Given the description of an element on the screen output the (x, y) to click on. 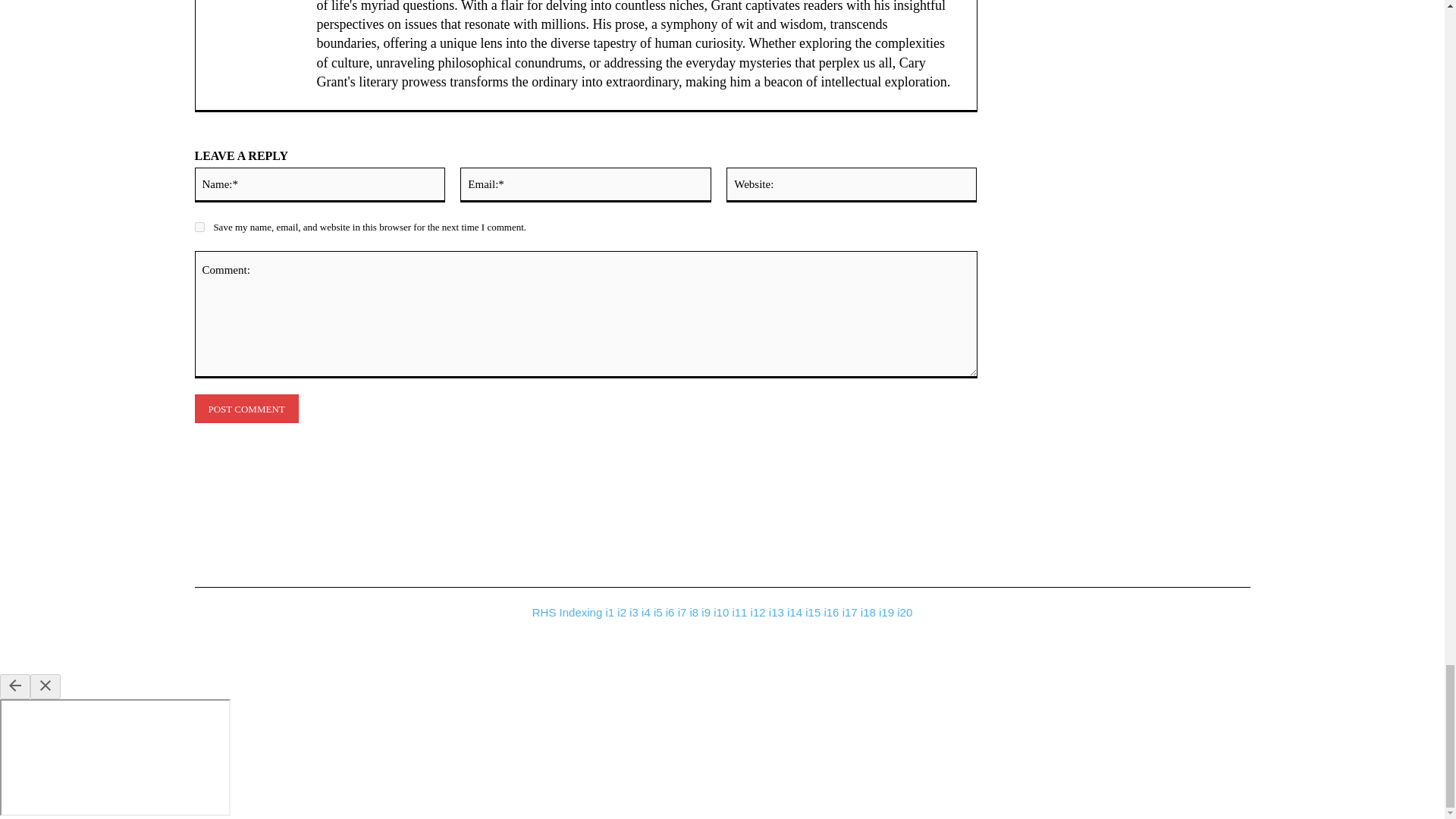
yes (198, 226)
Post Comment (245, 408)
